Given the description of an element on the screen output the (x, y) to click on. 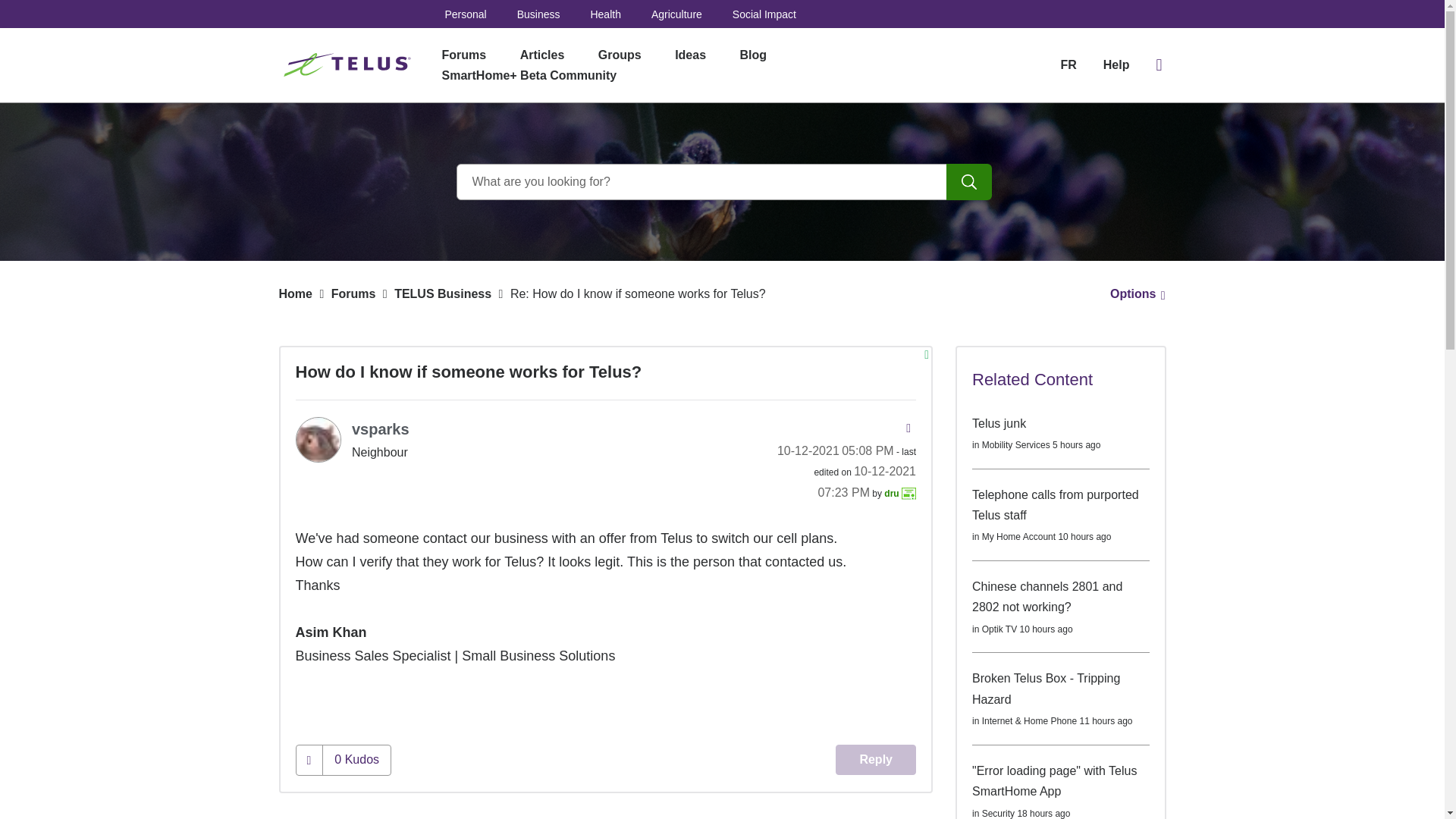
Personal (465, 14)
Search (968, 181)
Search (968, 181)
Home (296, 293)
Options (1133, 294)
Help (1116, 64)
Business (698, 815)
How much does it cost to replace a flat top roof? (798, 815)
FR (1067, 64)
vsparks (317, 439)
Groups (619, 55)
TELUS Business (443, 293)
Blog (754, 55)
Agriculture (675, 14)
Search (722, 181)
